Given the description of an element on the screen output the (x, y) to click on. 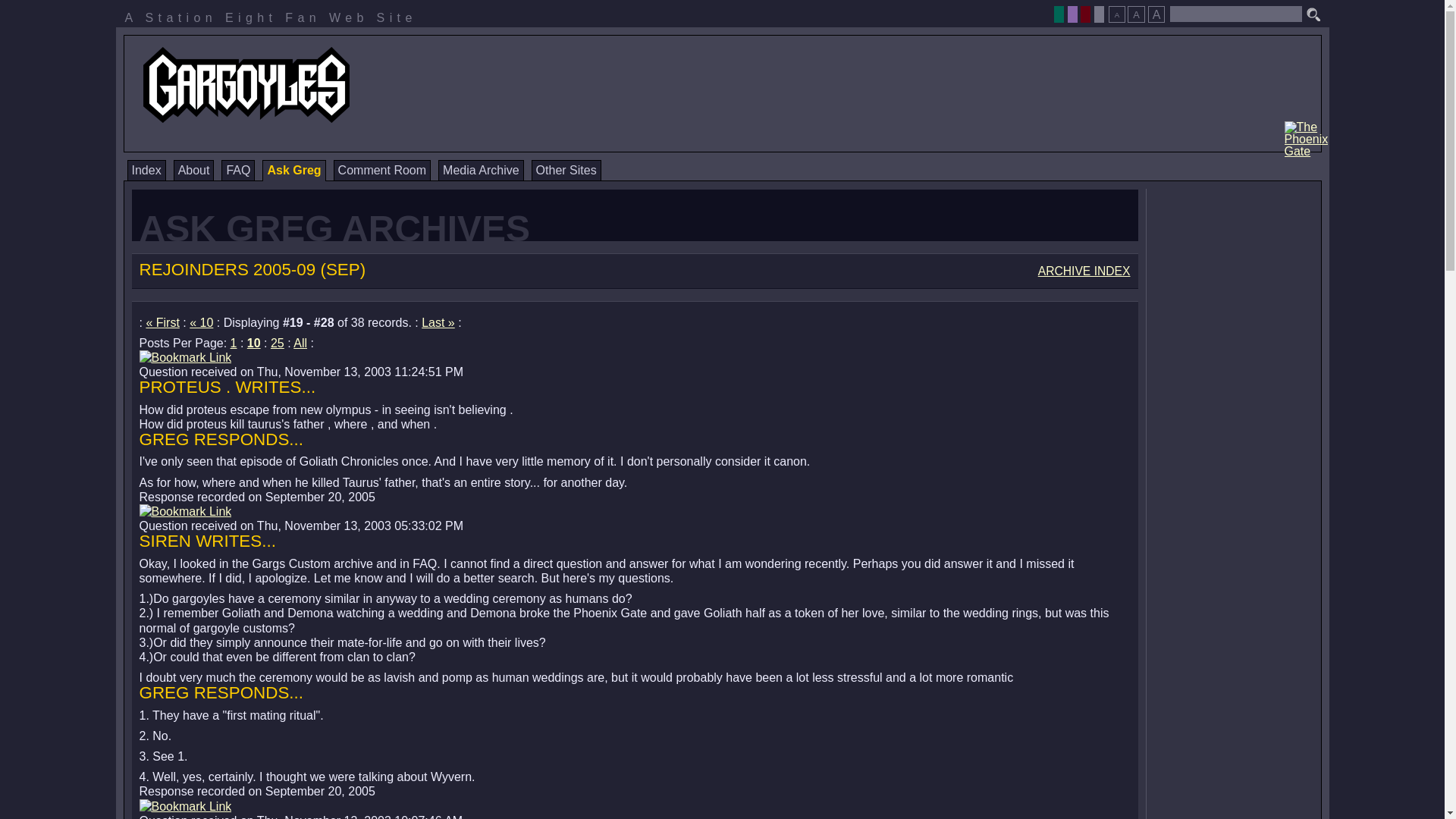
Media Archive (481, 169)
Standard Font Size (1135, 13)
Small Font Size (1116, 13)
Ask Greg (293, 169)
10 (253, 342)
A (1156, 13)
ARCHIVE INDEX (1084, 270)
A (1135, 13)
Select the font size the best suits your needs. (1135, 9)
FAQ (237, 169)
